Given the description of an element on the screen output the (x, y) to click on. 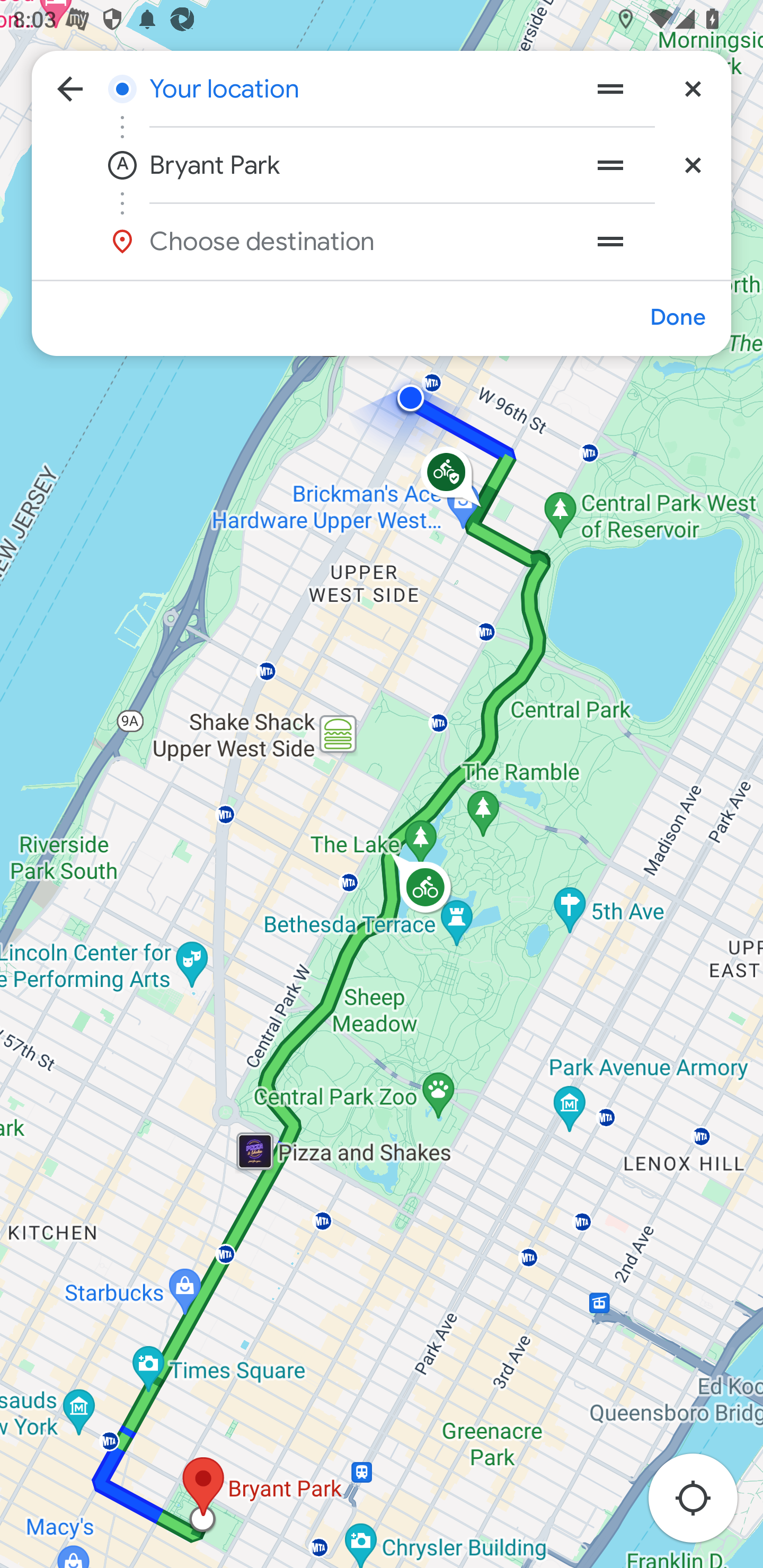
Navigate up (70, 88)
Drag waypoint Your location (610, 88)
Remove waypoint Your location (692, 88)
Drag waypoint Bryant Park (610, 165)
Remove waypoint Bryant Park (692, 165)
Drag waypoint Choose destination (648, 241)
Done (676, 317)
Re-center map to your location (702, 1503)
